Given the description of an element on the screen output the (x, y) to click on. 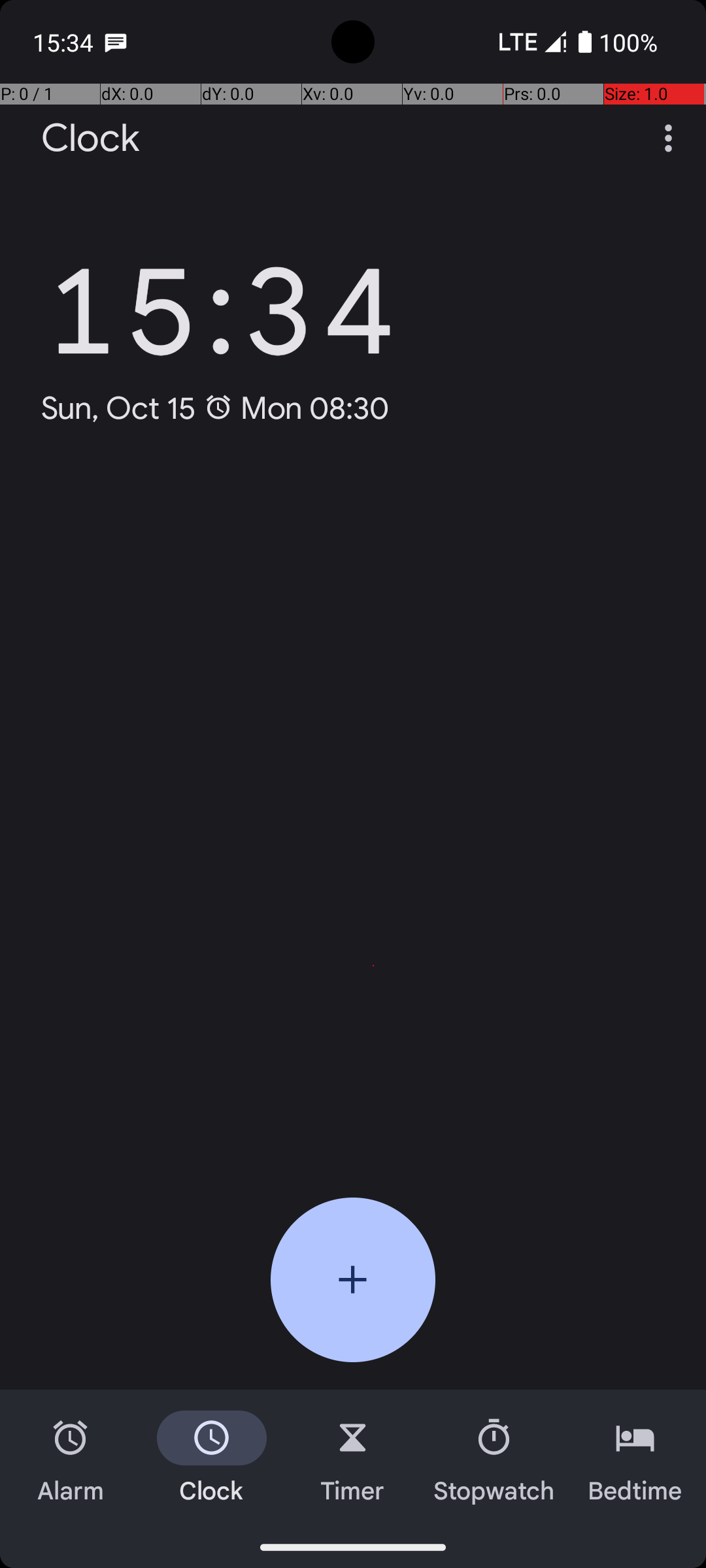
Add city Element type: android.widget.Button (352, 1279)
Sun, Oct 15 A Mon 08:30 Element type: android.widget.TextView (215, 407)
